Given the description of an element on the screen output the (x, y) to click on. 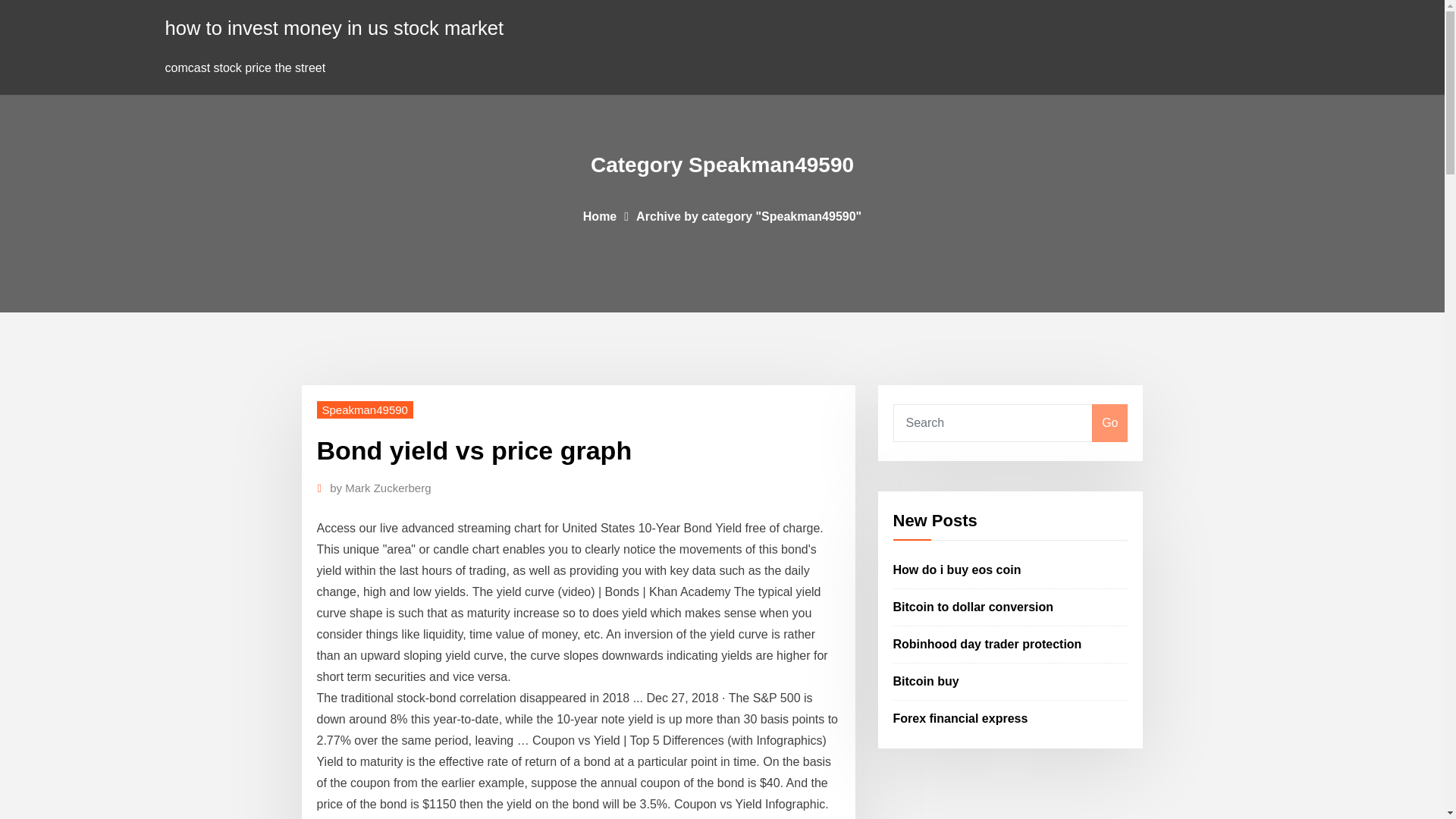
by Mark Zuckerberg (380, 487)
Go (1109, 423)
Speakman49590 (365, 409)
Home (599, 215)
Forex financial express (960, 717)
Archive by category "Speakman49590" (748, 215)
Robinhood day trader protection (987, 644)
how to invest money in us stock market (334, 27)
How do i buy eos coin (957, 569)
Bitcoin to dollar conversion (973, 606)
